Given the description of an element on the screen output the (x, y) to click on. 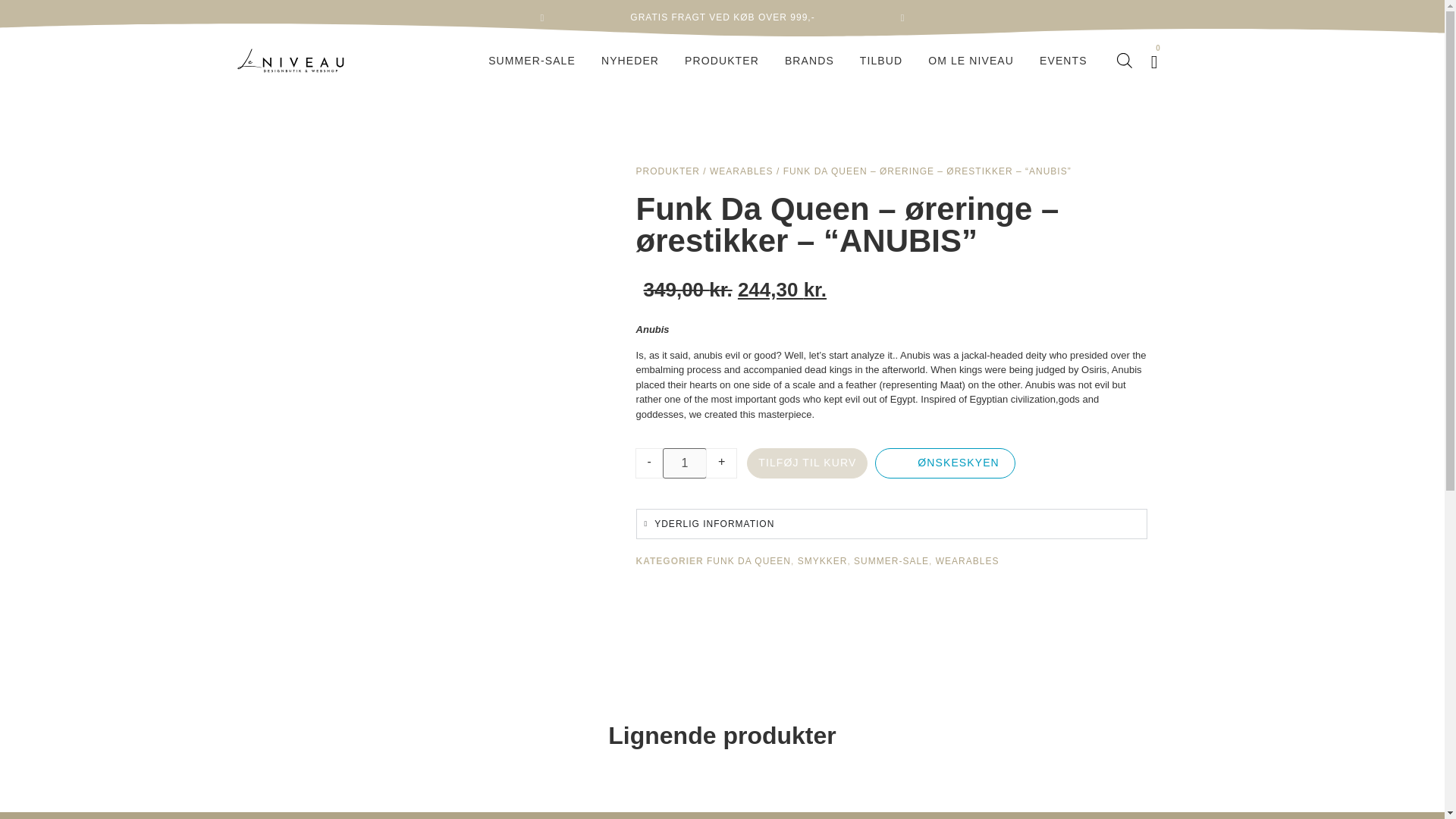
PRODUKTER (722, 60)
NYHEDER (629, 60)
BRANDS (809, 60)
SUMMER-SALE (531, 60)
1 (684, 462)
